Given the description of an element on the screen output the (x, y) to click on. 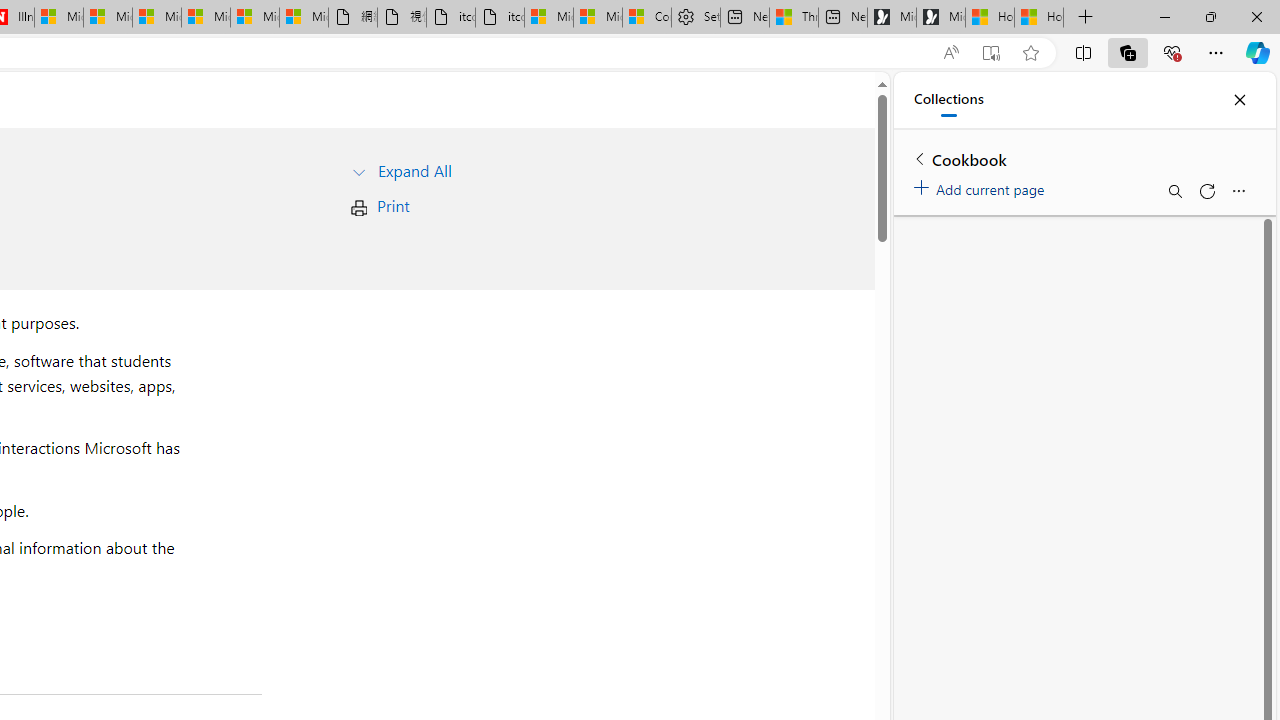
itconcepthk.com/projector_solutions.mp4 (499, 17)
Back to list of collections (920, 158)
